Given the description of an element on the screen output the (x, y) to click on. 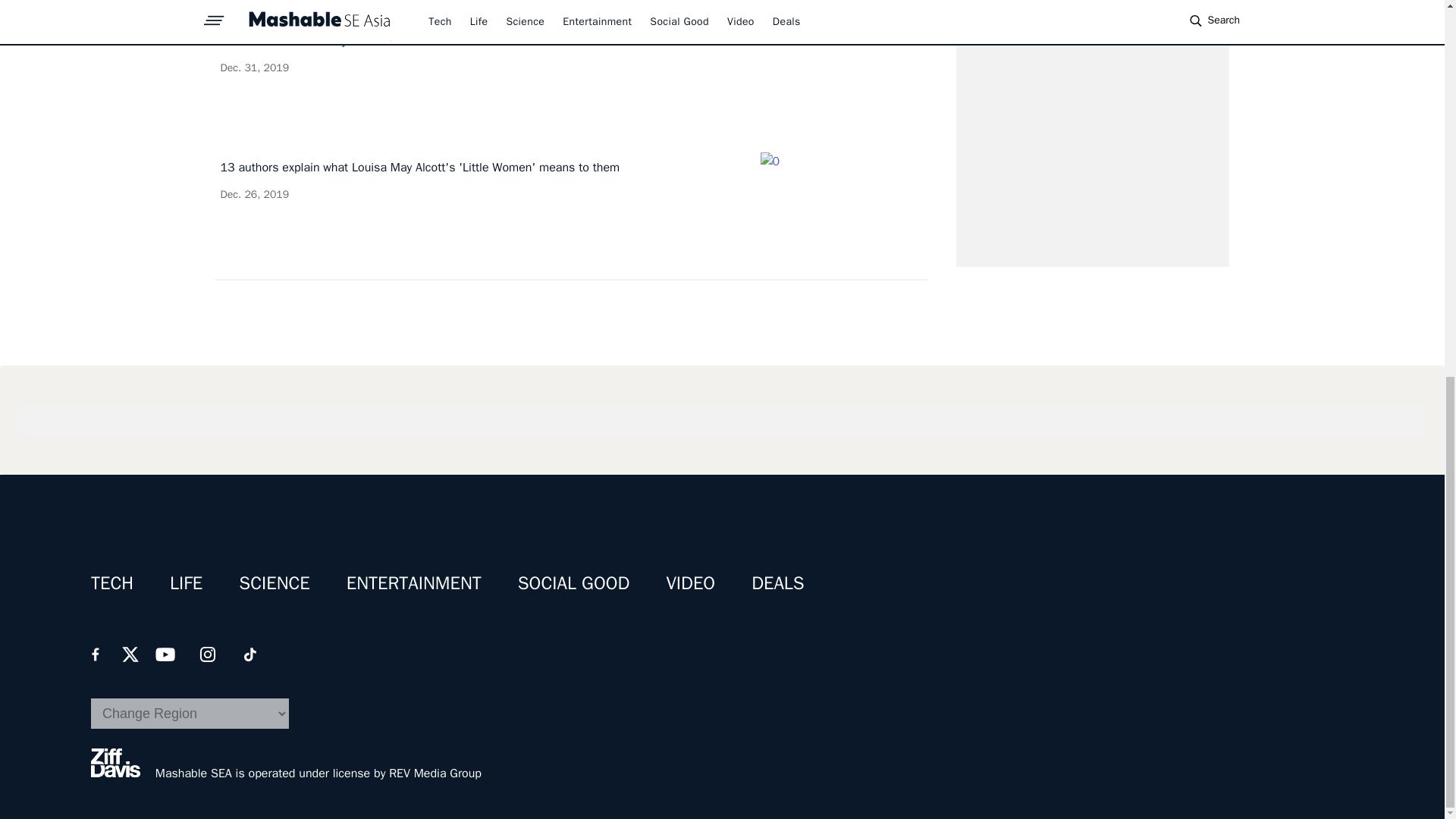
TECH (111, 582)
VIDEO (689, 582)
SOCIAL GOOD (574, 582)
ENTERTAINMENT (413, 582)
DEALS (778, 582)
LIFE (186, 582)
SCIENCE (570, 76)
